Given the description of an element on the screen output the (x, y) to click on. 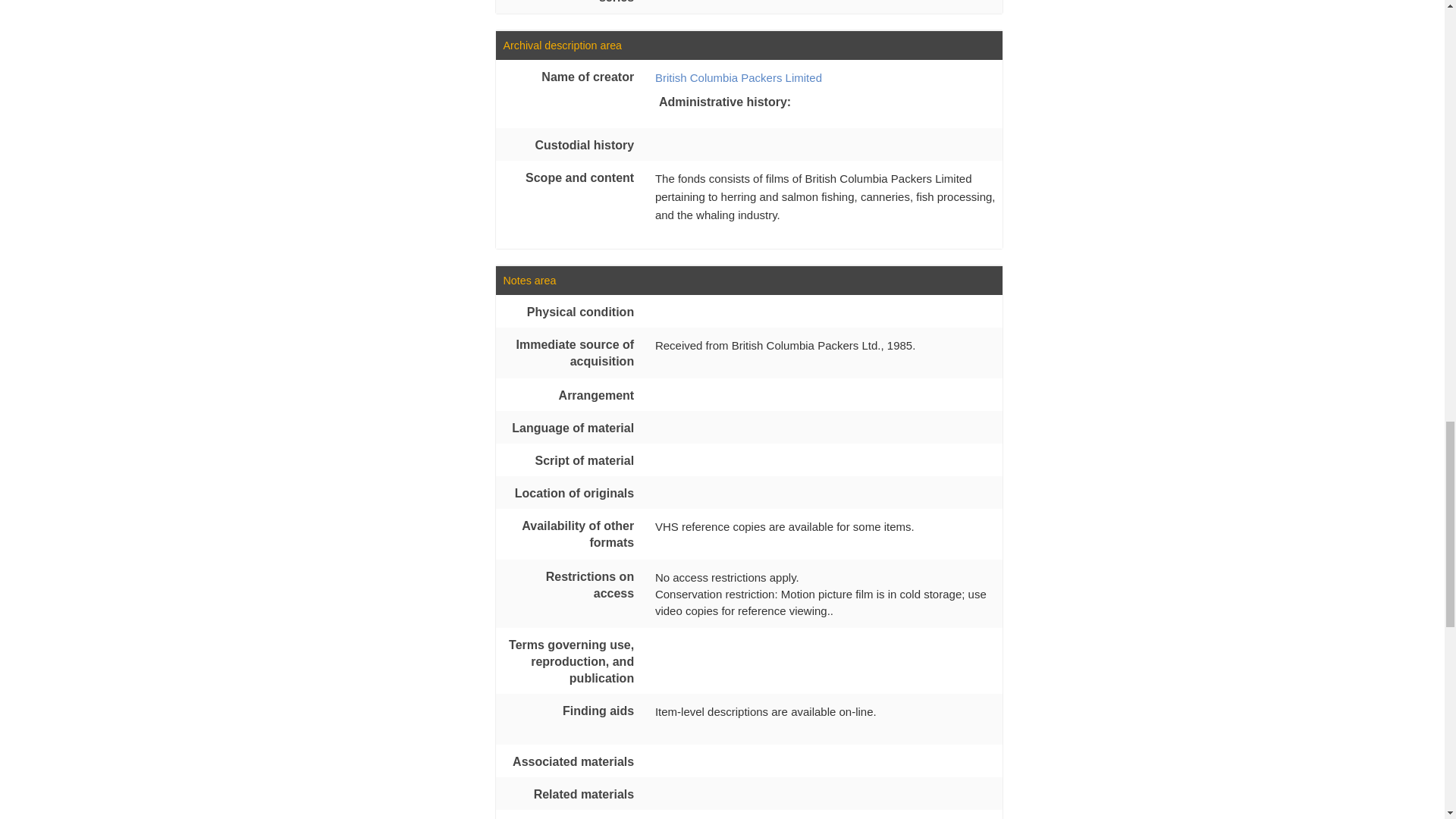
British Columbia Packers Limited (738, 77)
